Given the description of an element on the screen output the (x, y) to click on. 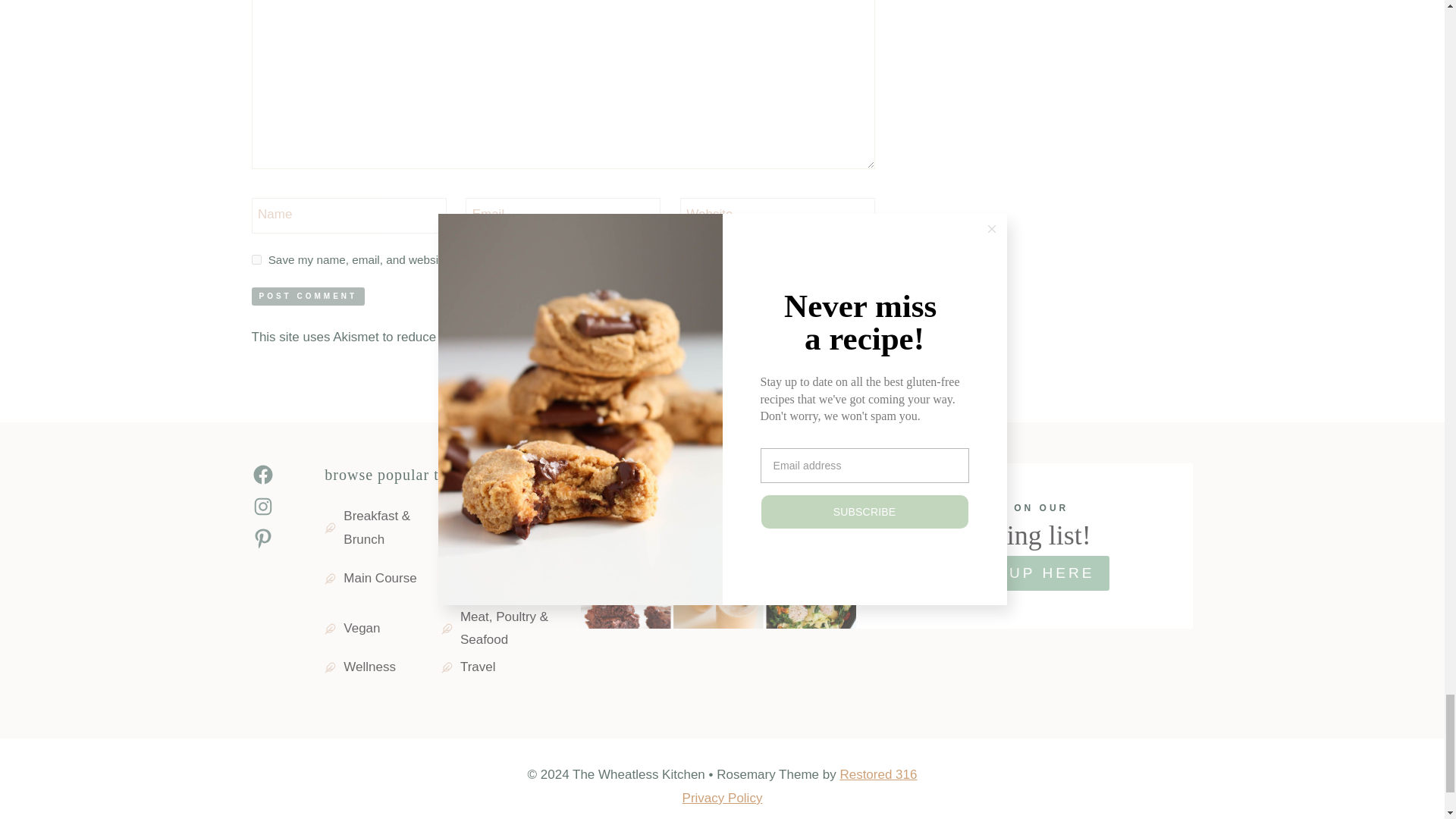
yes (256, 259)
Post Comment (308, 296)
